Given the description of an element on the screen output the (x, y) to click on. 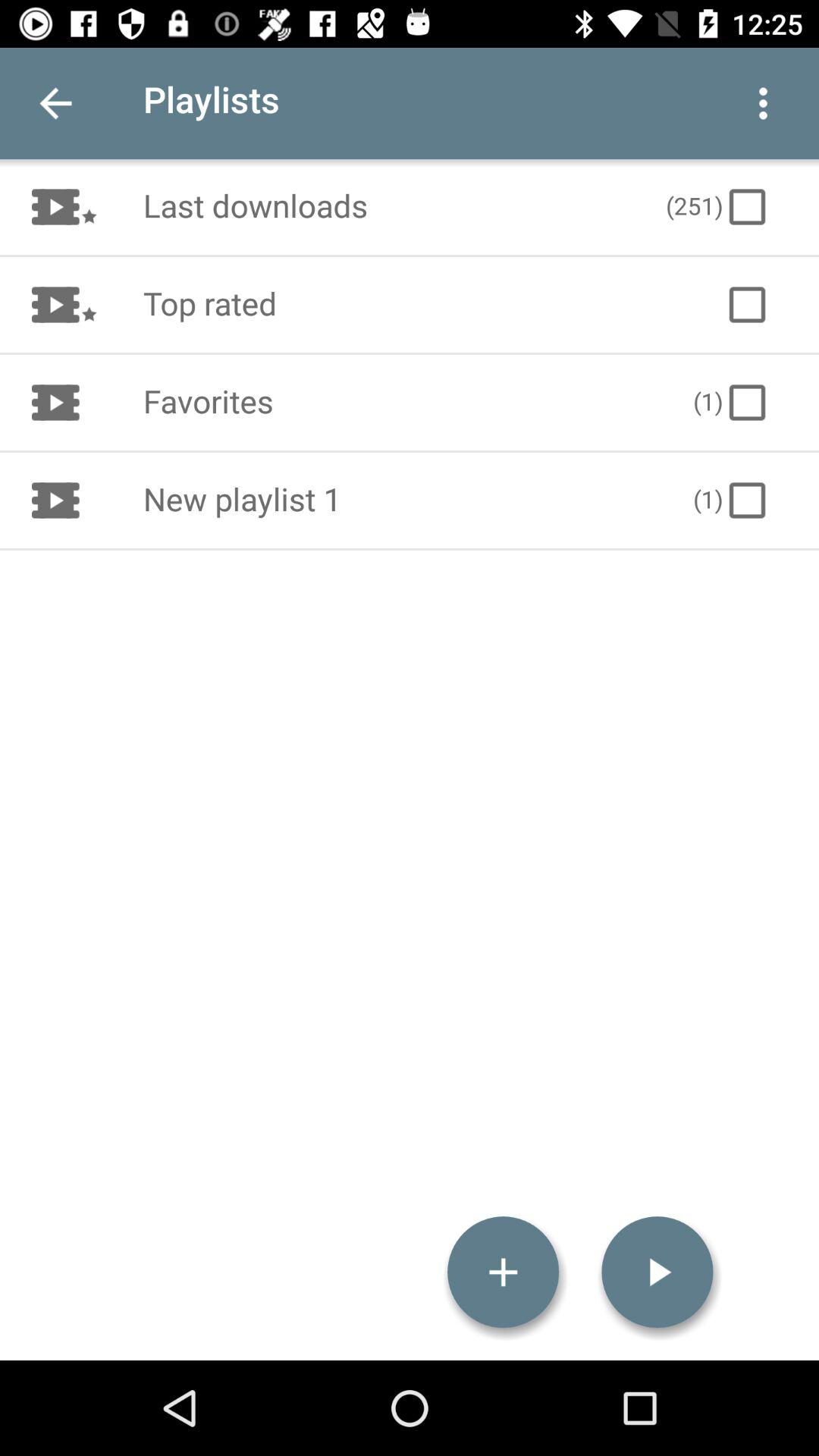
press top rated (417, 304)
